Given the description of an element on the screen output the (x, y) to click on. 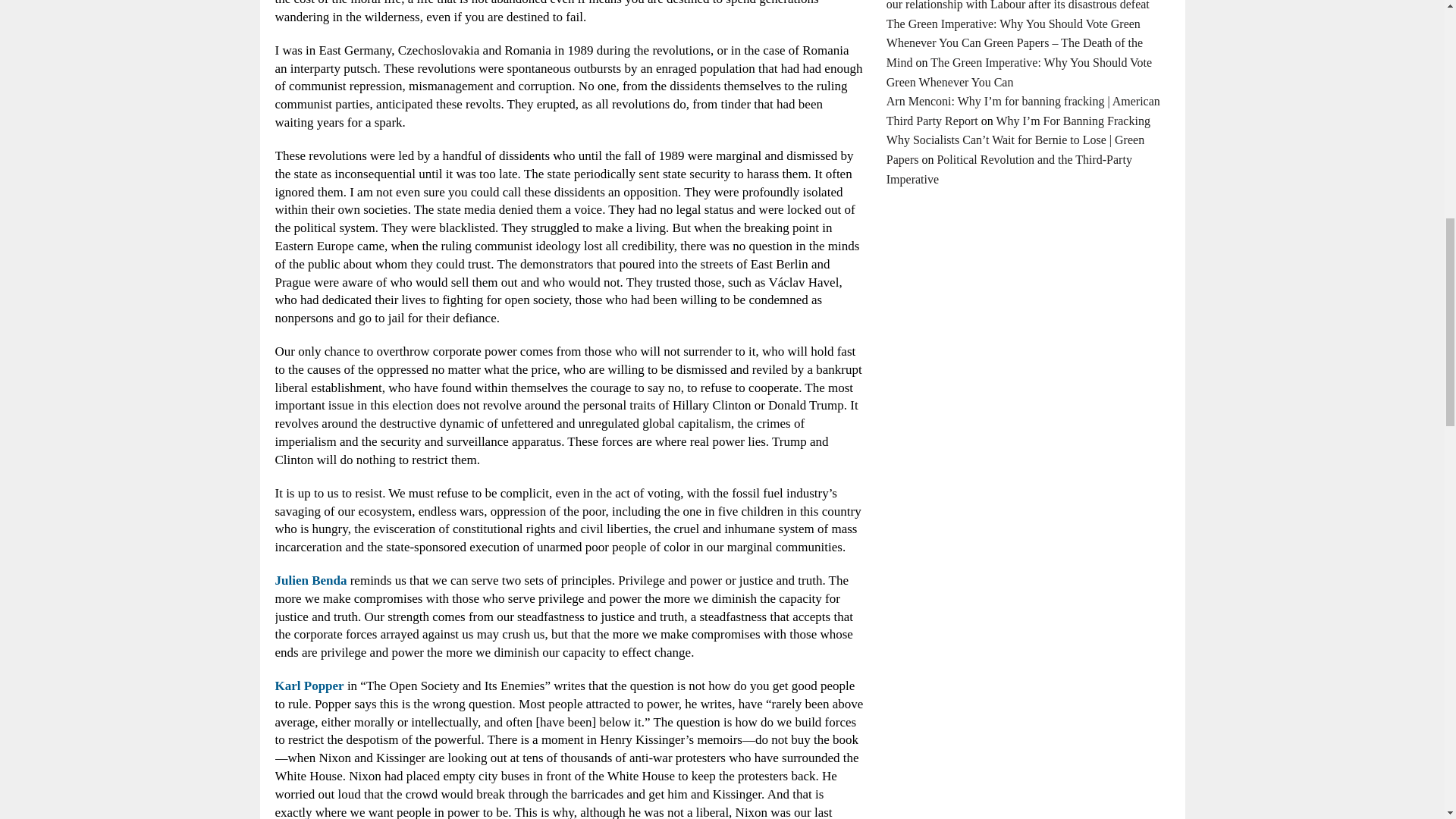
Karl Popper (309, 685)
Julien Benda (310, 580)
